Given the description of an element on the screen output the (x, y) to click on. 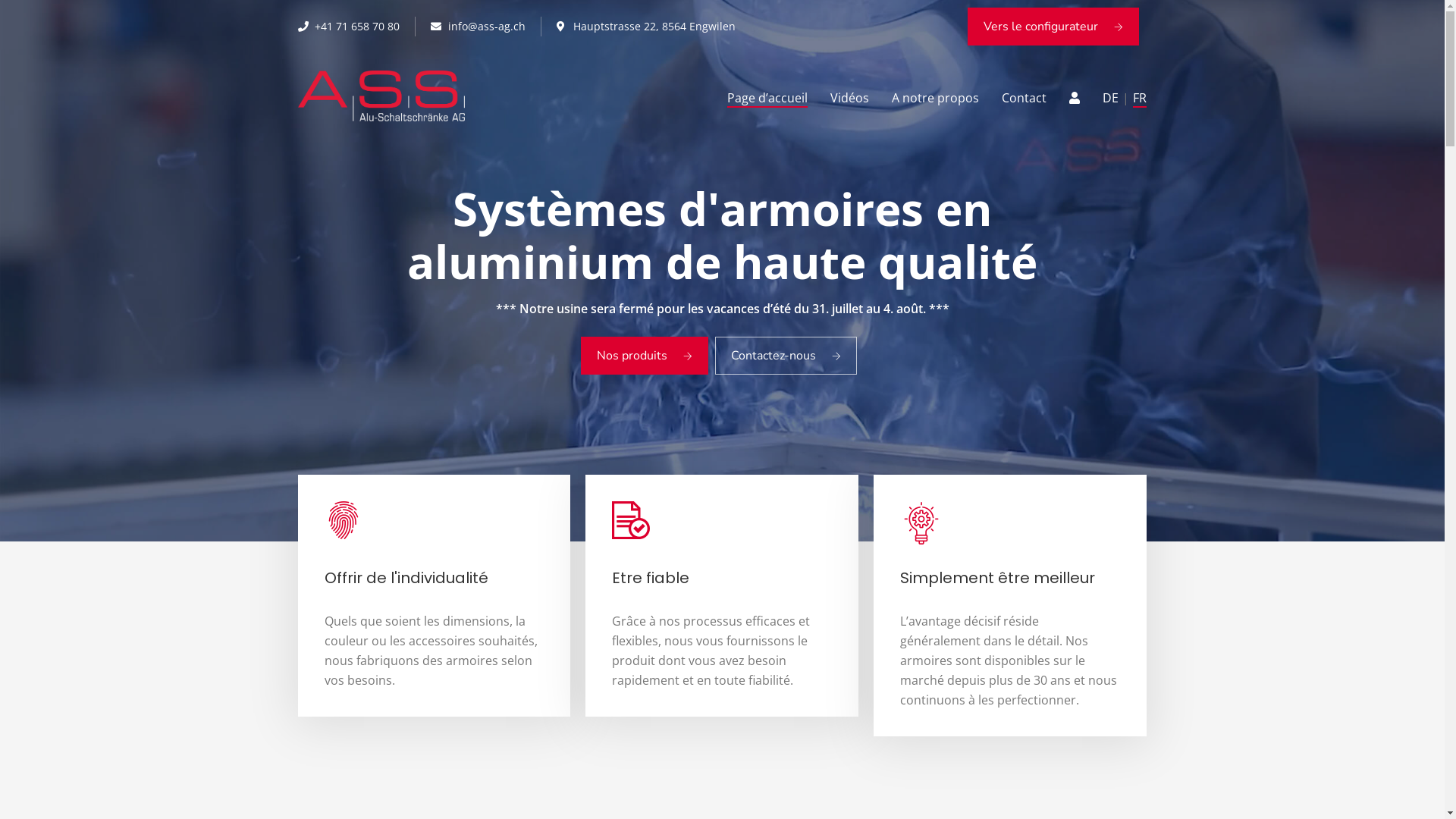
Hauptstrasse 22, 8564 Engwilen Element type: text (646, 26)
Nos produits Element type: text (644, 355)
A notre propos Element type: text (935, 97)
FR Element type: text (1139, 97)
info@ass-ag.ch Element type: text (477, 26)
+41 71 658 70 80 Element type: text (348, 26)
Contact Element type: text (1023, 97)
Contactez-nous Element type: text (785, 355)
DE Element type: text (1110, 97)
Vers le configurateur Element type: text (1053, 26)
